Given the description of an element on the screen output the (x, y) to click on. 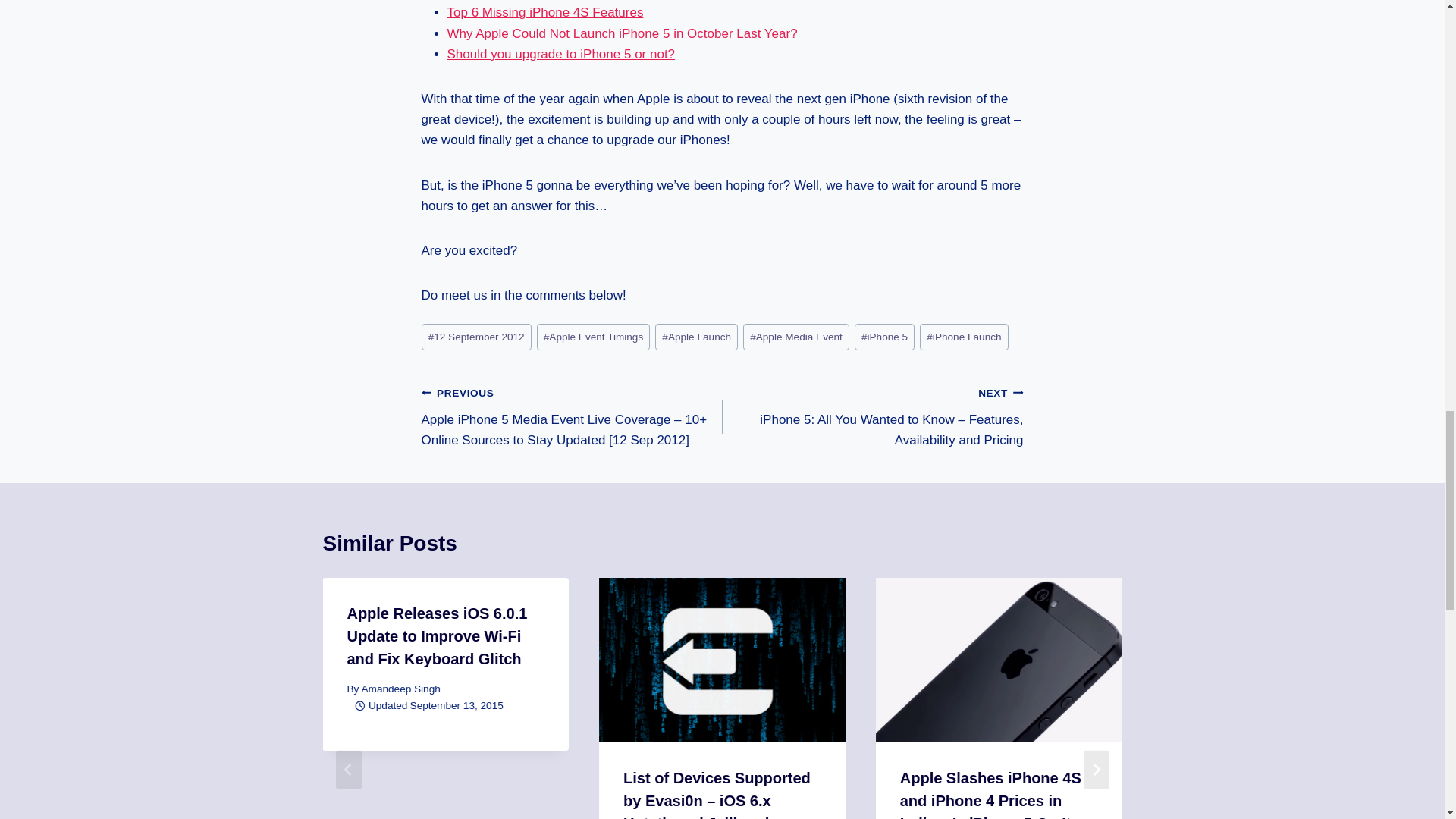
Permanent link to Top 6 Missing iPhone 4S Features (544, 11)
Apple Media Event (795, 336)
iPhone 5 (884, 336)
Apple Launch (696, 336)
iPhone Launch (964, 336)
Permanent link to Why Apple Could Not Launch iPhone 5? (621, 33)
12 September 2012 (476, 336)
Apple Event Timings (593, 336)
